Given the description of an element on the screen output the (x, y) to click on. 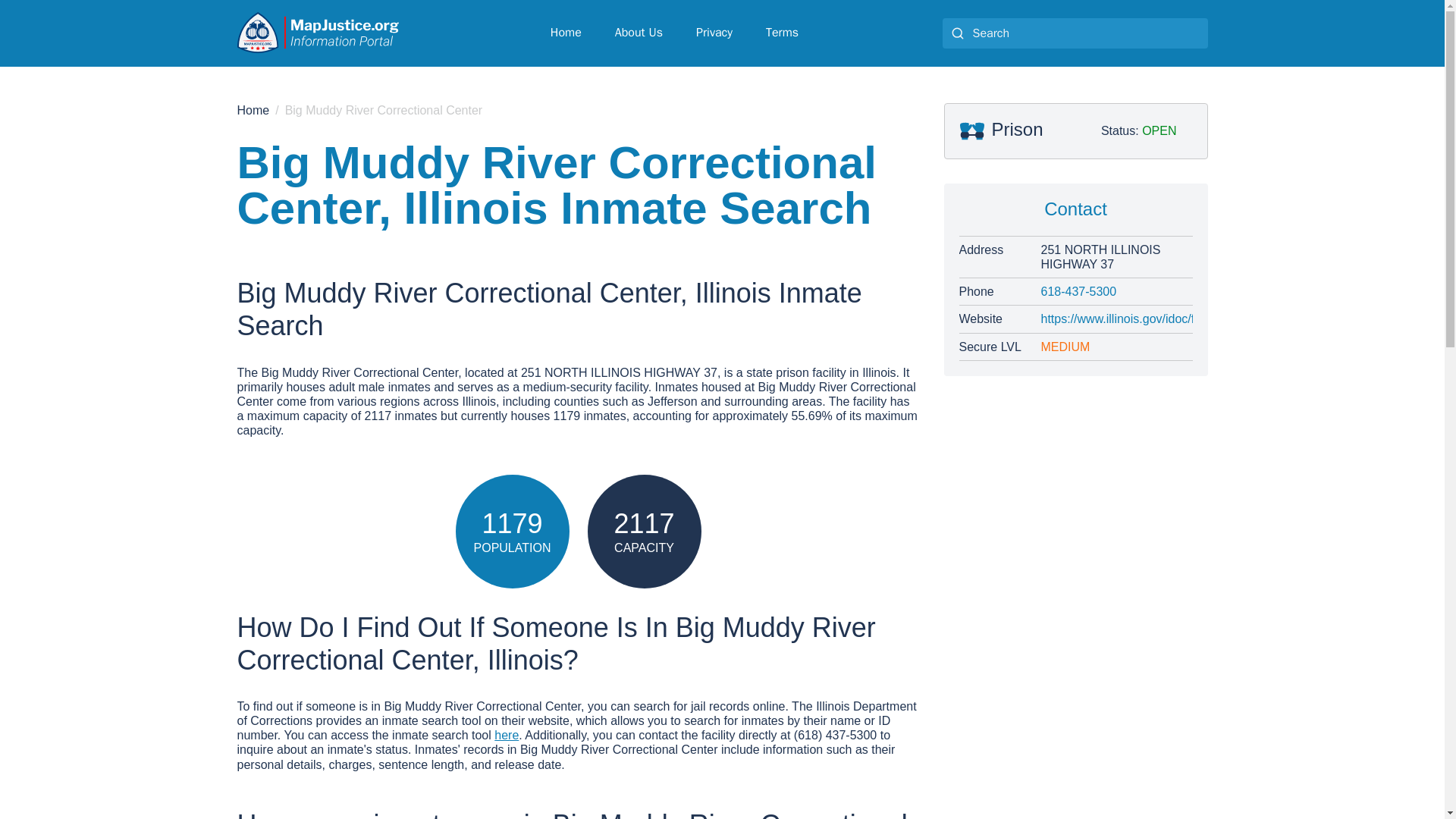
Home (565, 32)
Terms (782, 32)
About Us (638, 32)
Home (252, 110)
here (506, 735)
618-437-5300 (1116, 291)
Privacy (714, 32)
